Given the description of an element on the screen output the (x, y) to click on. 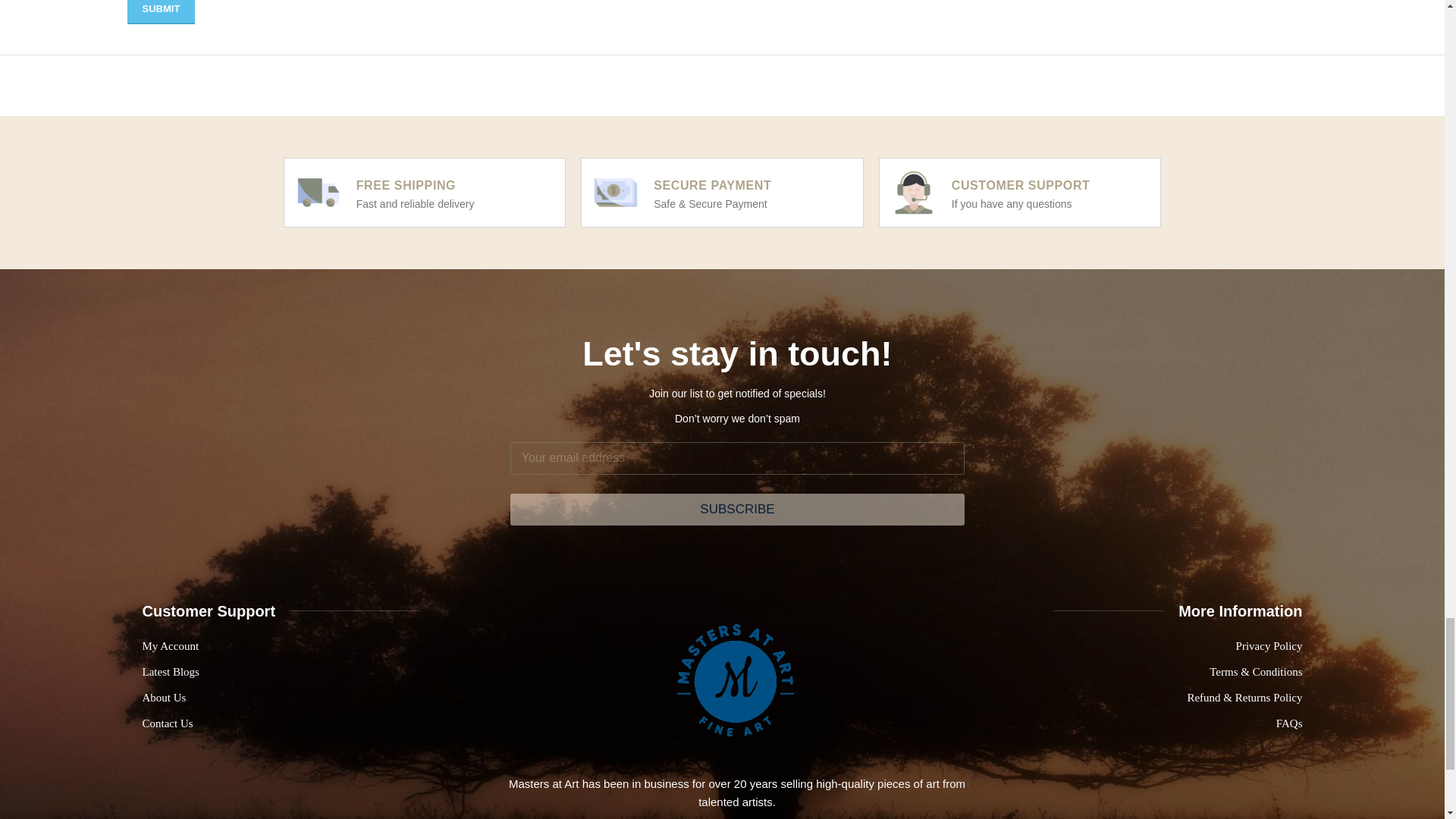
Submit (161, 12)
